Given the description of an element on the screen output the (x, y) to click on. 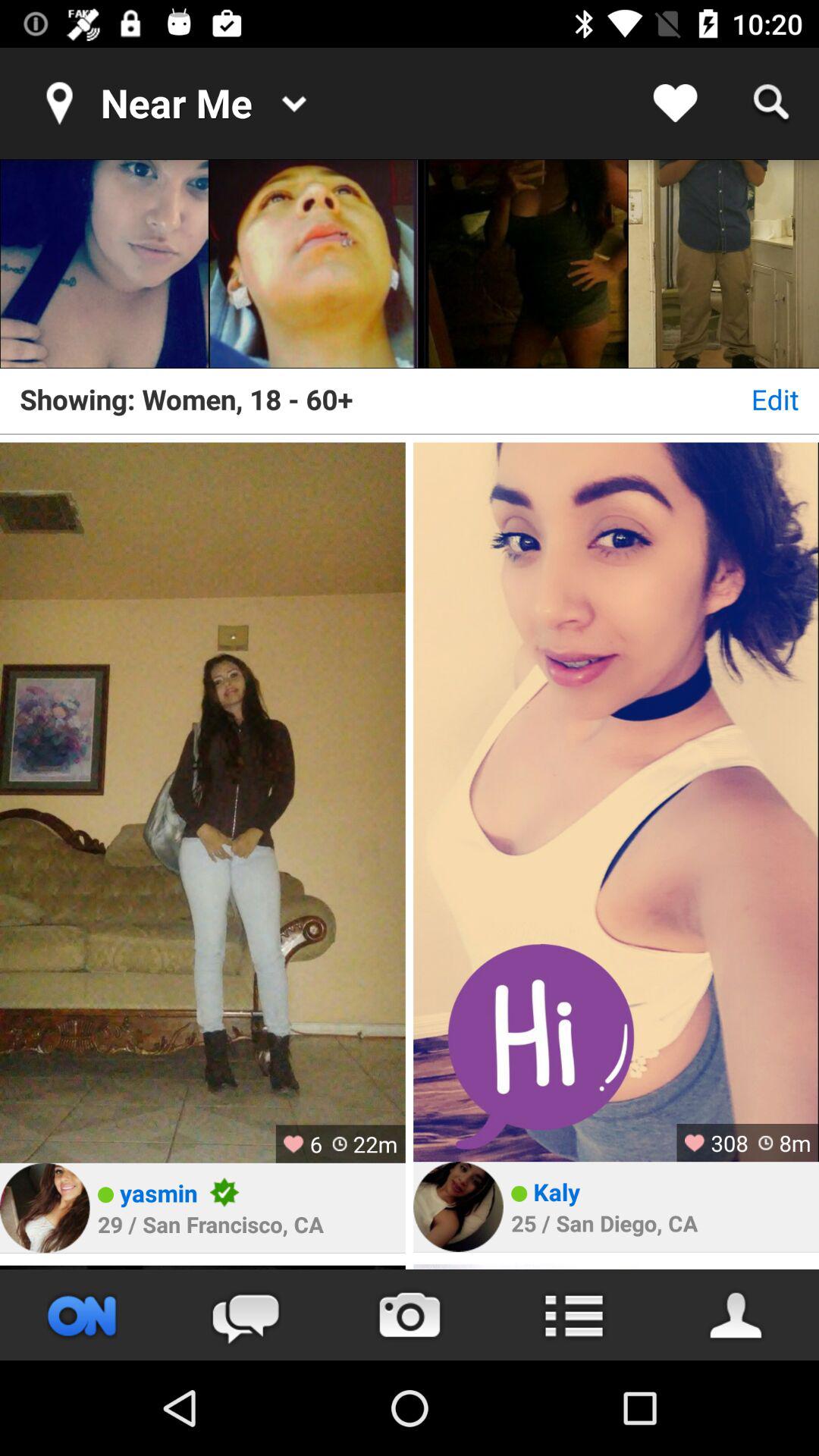
profile icon (737, 1315)
